Given the description of an element on the screen output the (x, y) to click on. 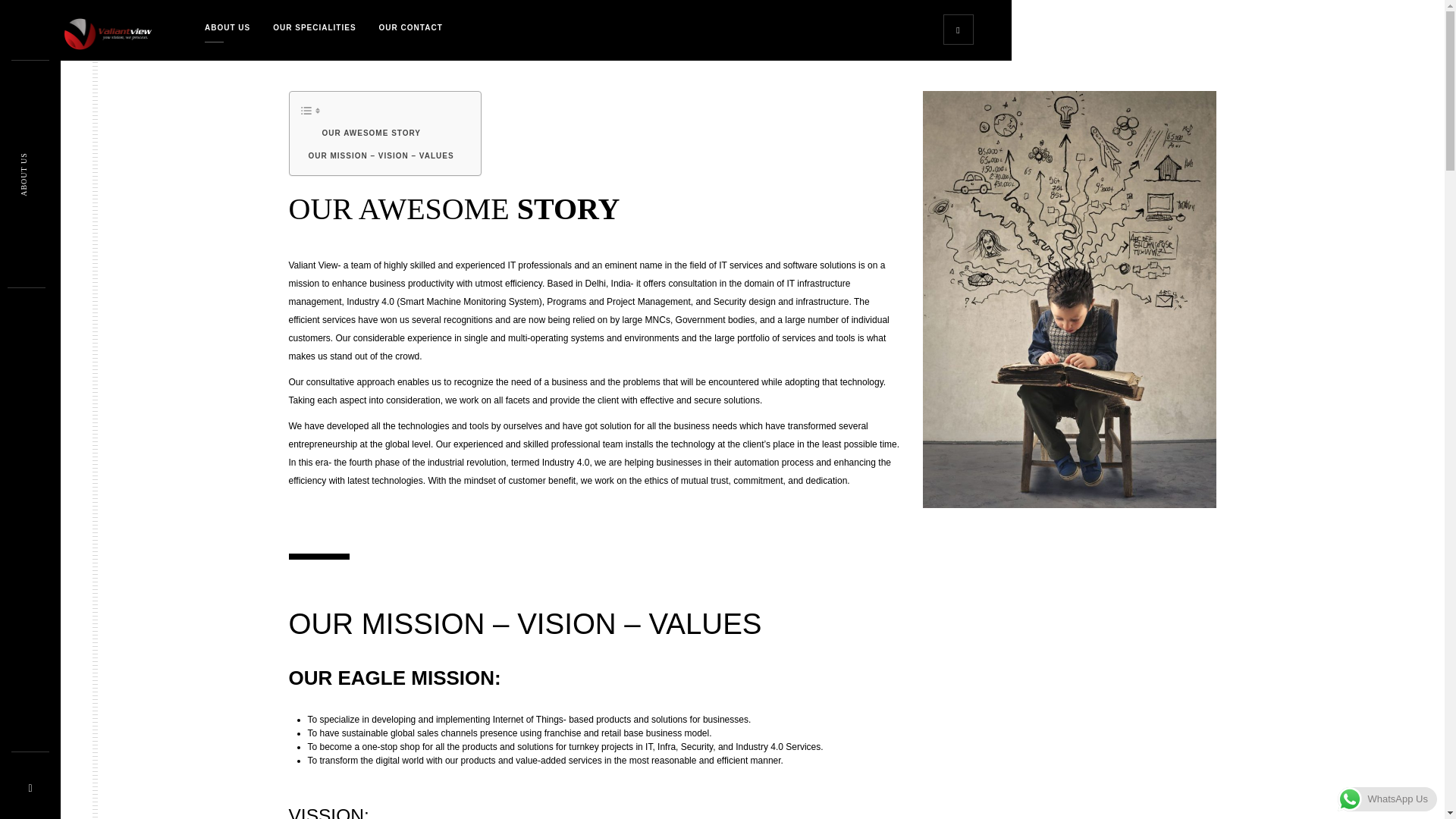
OUR CONTACT (411, 27)
ABOUT US (227, 27)
OUR SPECIALITIES (314, 27)
OUR AWESOME STORY (371, 133)
Our Awesome  Story (371, 133)
